Given the description of an element on the screen output the (x, y) to click on. 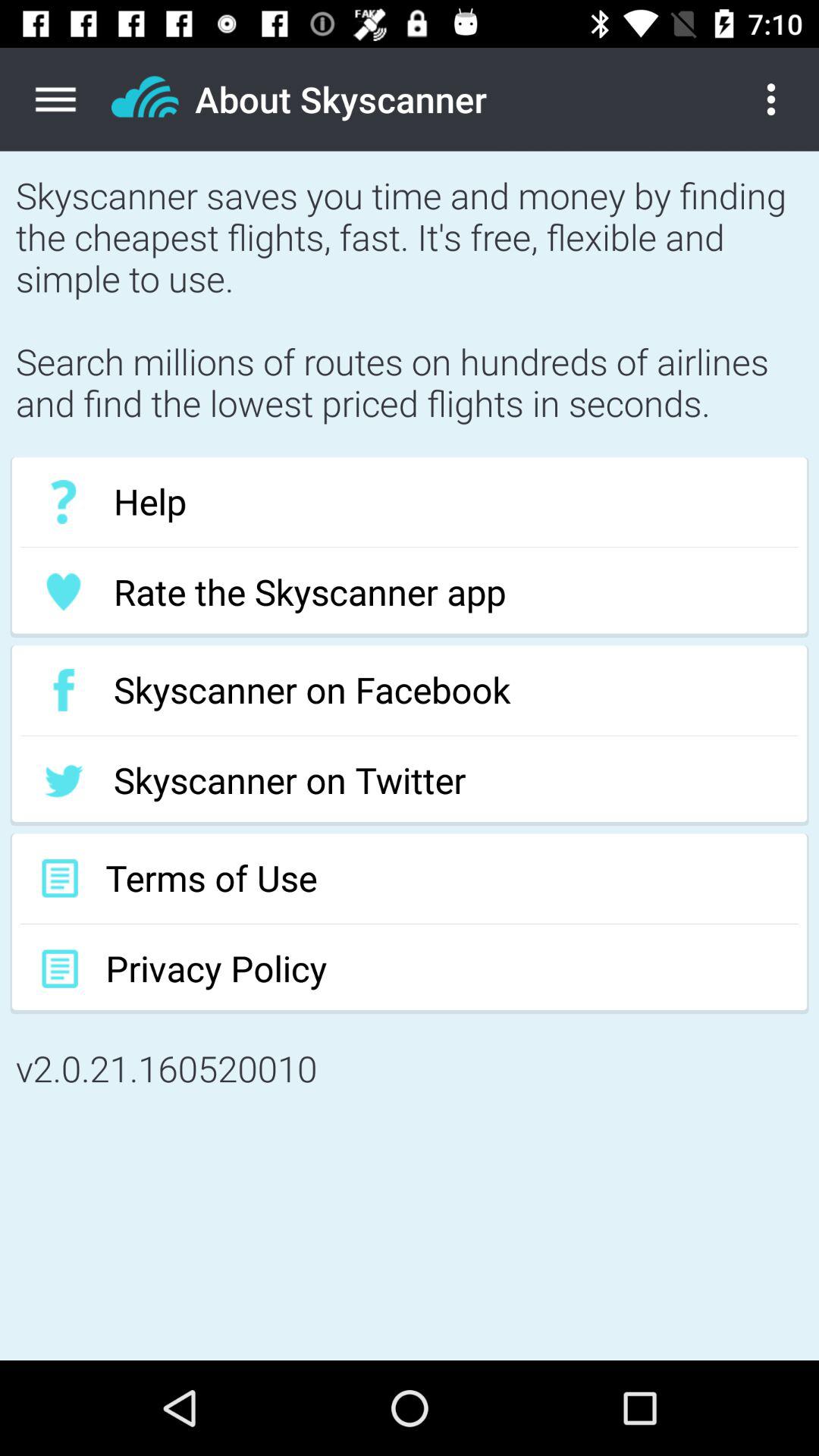
tap the item above the v2 0 21 item (409, 969)
